Given the description of an element on the screen output the (x, y) to click on. 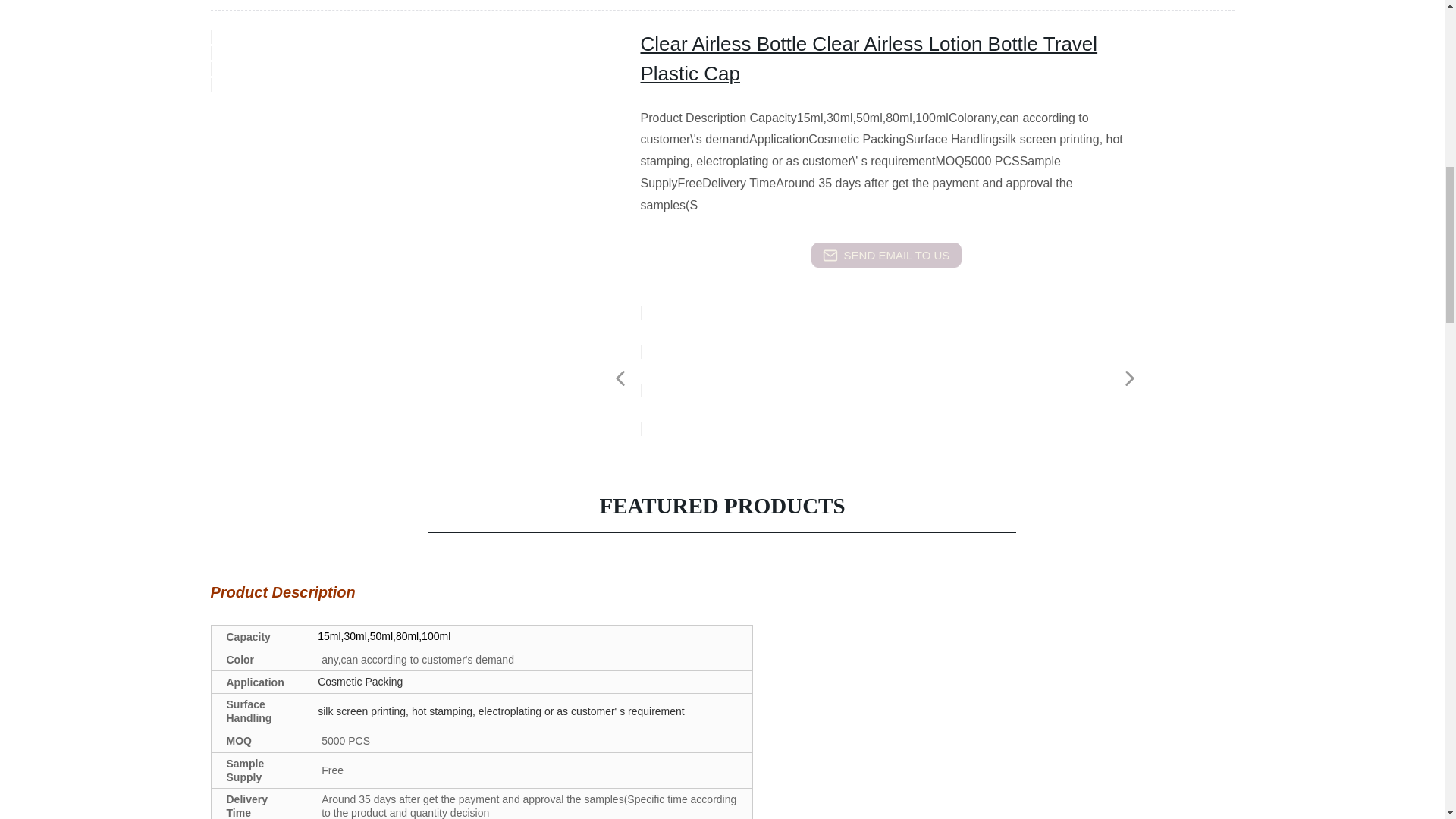
SEND EMAIL TO US (885, 254)
